Given the description of an element on the screen output the (x, y) to click on. 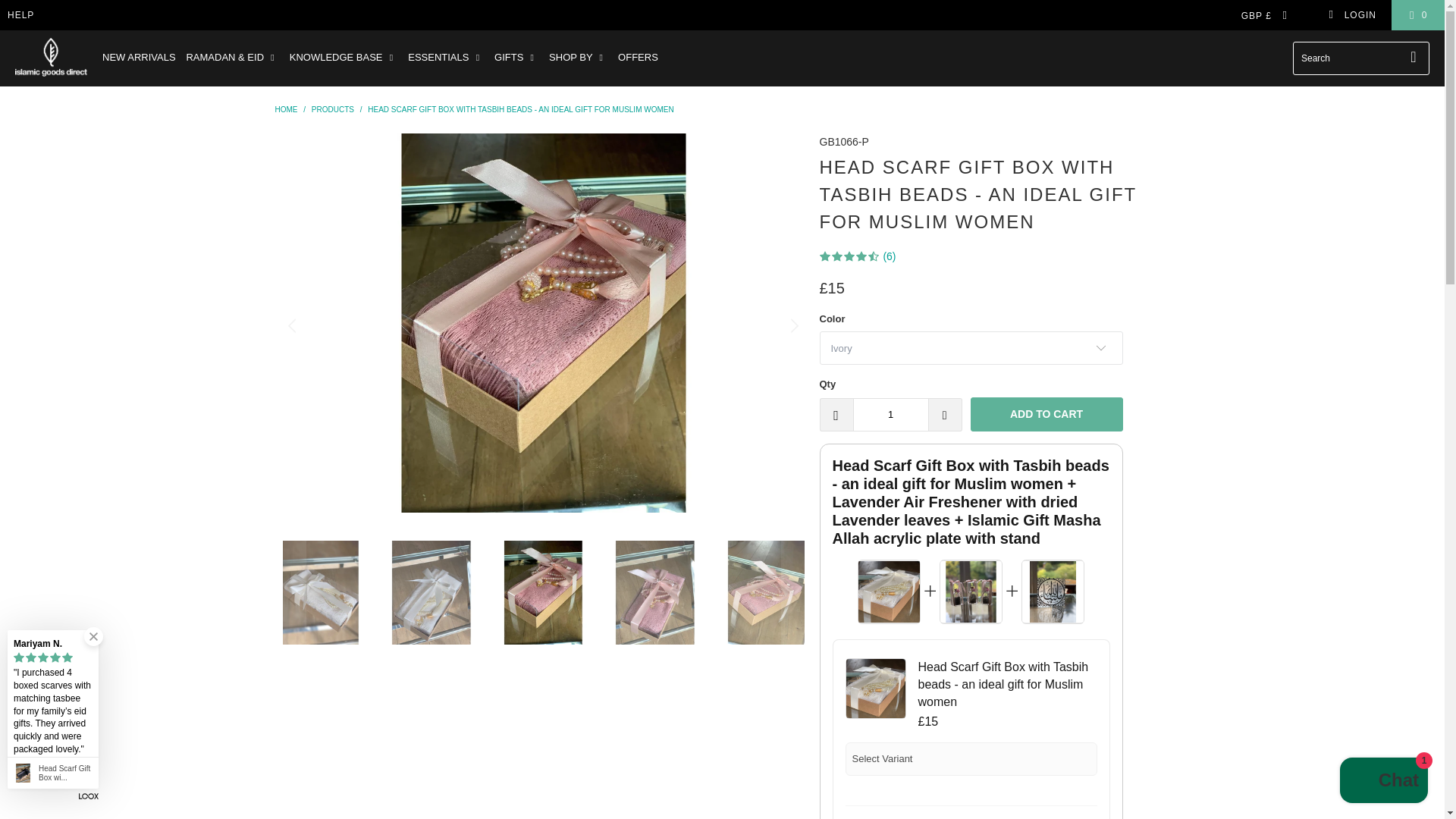
Products (332, 109)
My Account  (1351, 15)
1 (889, 414)
Islamic Goods Direct (50, 57)
Islamic Goods Direct (286, 109)
